Given the description of an element on the screen output the (x, y) to click on. 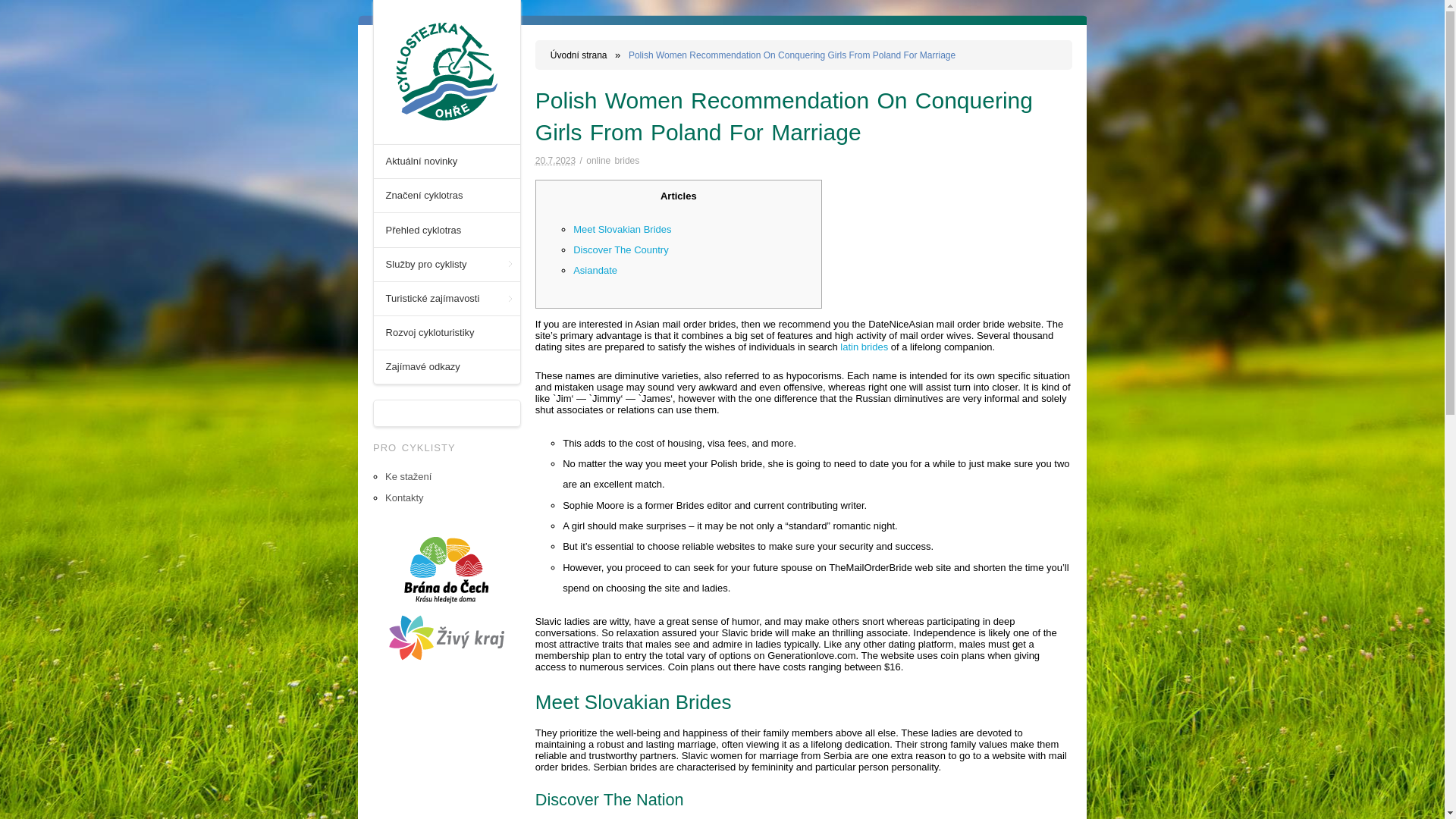
latin brides (864, 346)
Meet Slovakian Brides (622, 229)
Discover The Country (620, 249)
Asiandate (595, 270)
online brides (612, 160)
Rozvoj cykloturistiky (446, 332)
Kontakty (404, 496)
